Given the description of an element on the screen output the (x, y) to click on. 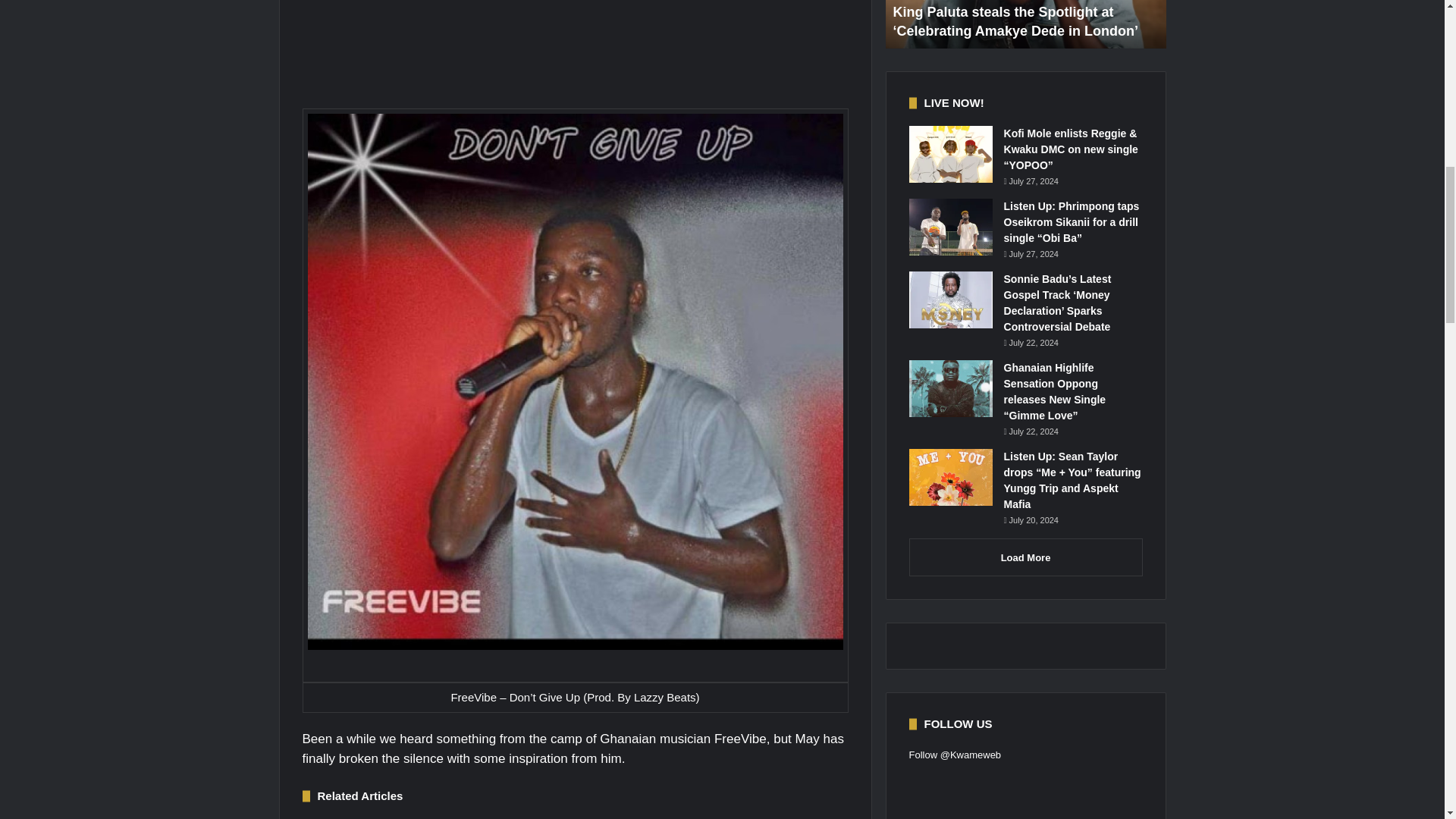
Advertisement (574, 53)
